Given the description of an element on the screen output the (x, y) to click on. 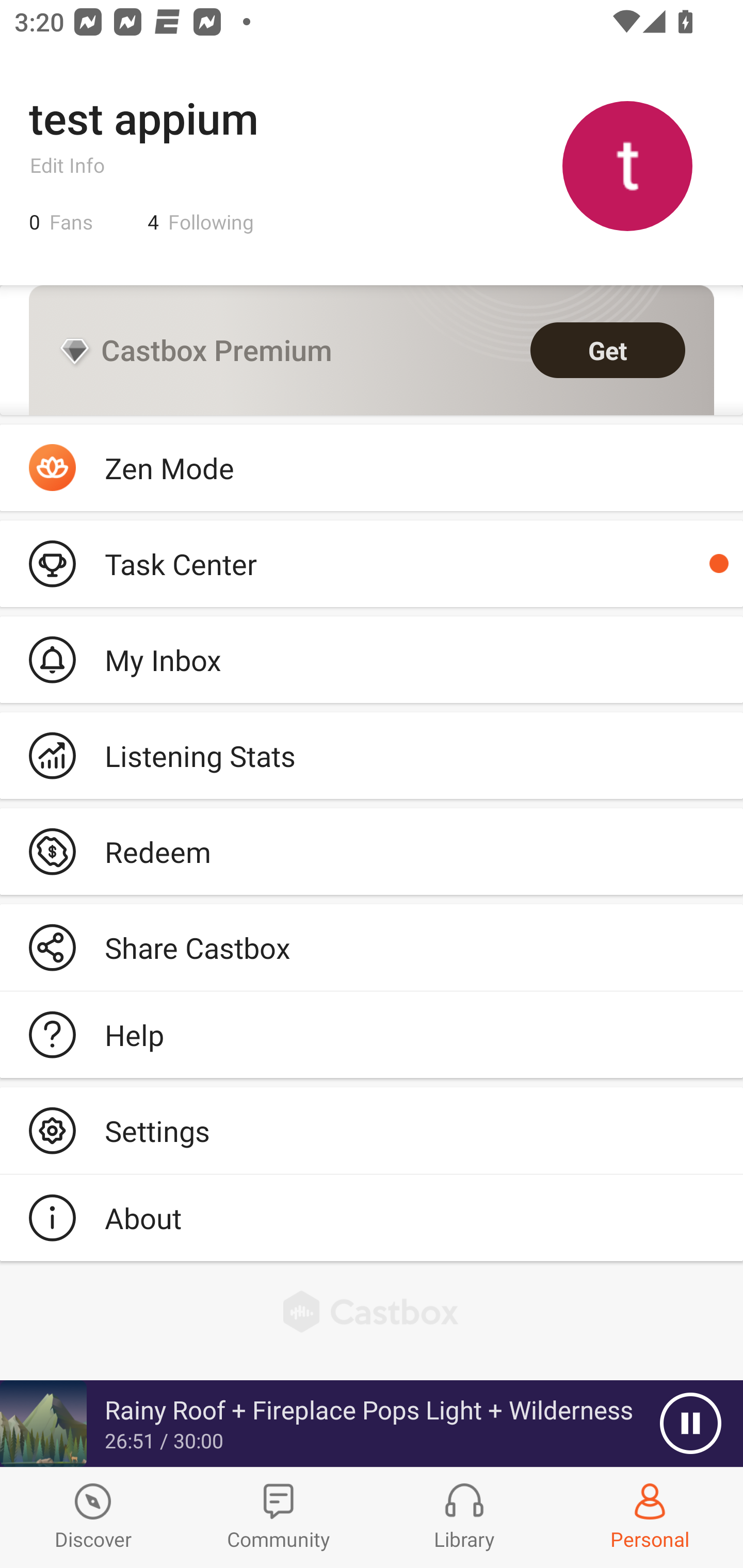
test appium Edit Info 0 Fans 4 Following (371, 165)
0 Fans (60, 221)
4 Following (200, 221)
Castbox Premium Get (371, 350)
Get (607, 350)
Zen Mode (371, 467)
Podcaster  Task Center (371, 563)
 My Inbox (371, 659)
 Listening Stats (371, 755)
 Redeem (371, 851)
 Share Castbox (371, 947)
 Help (371, 1034)
 Settings (371, 1130)
 About (371, 1217)
Pause (690, 1423)
Discover (92, 1517)
Community (278, 1517)
Library (464, 1517)
Profiles and Settings Personal (650, 1517)
